Given the description of an element on the screen output the (x, y) to click on. 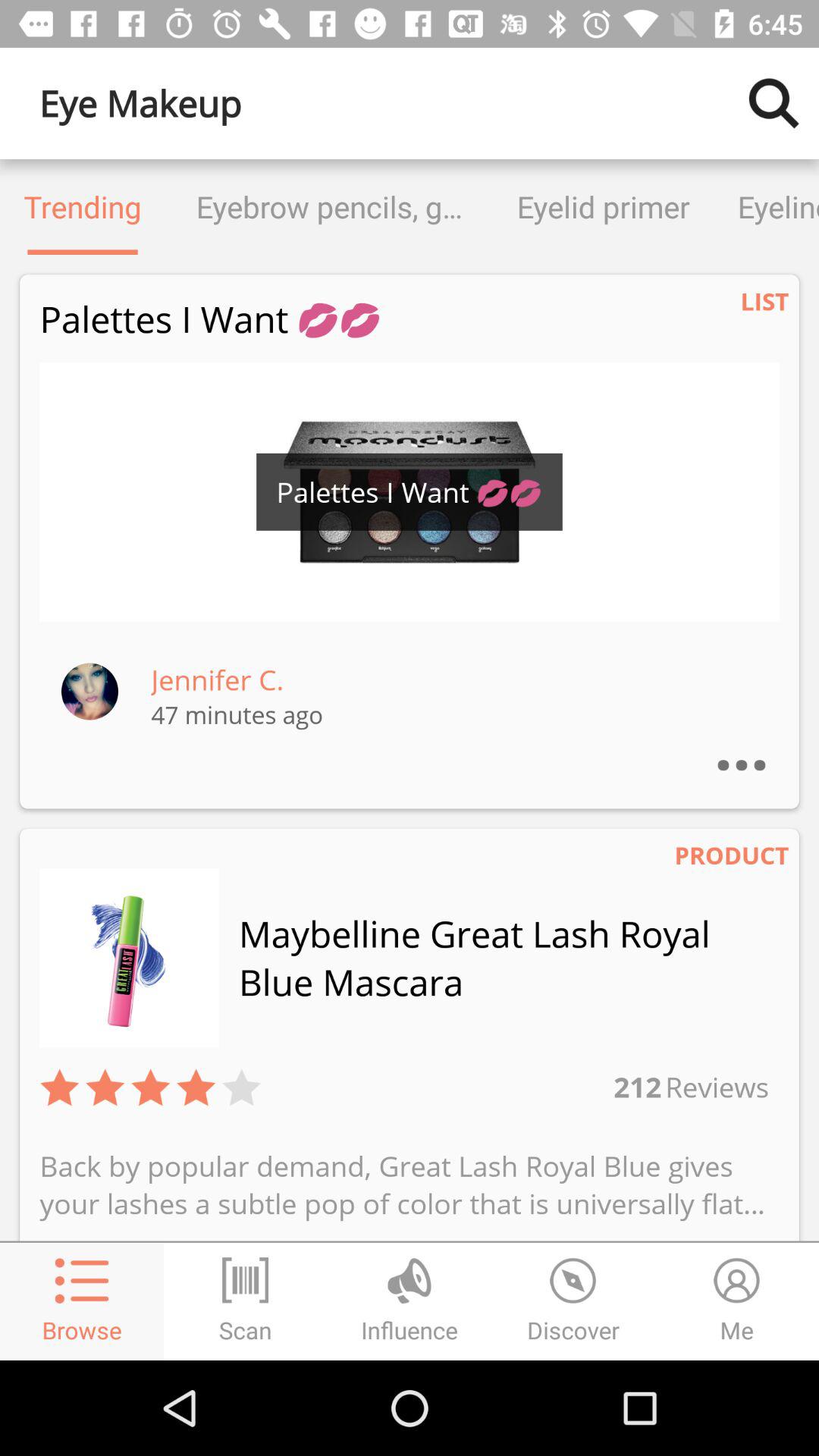
swipe to 47 minutes ago icon (237, 714)
